Given the description of an element on the screen output the (x, y) to click on. 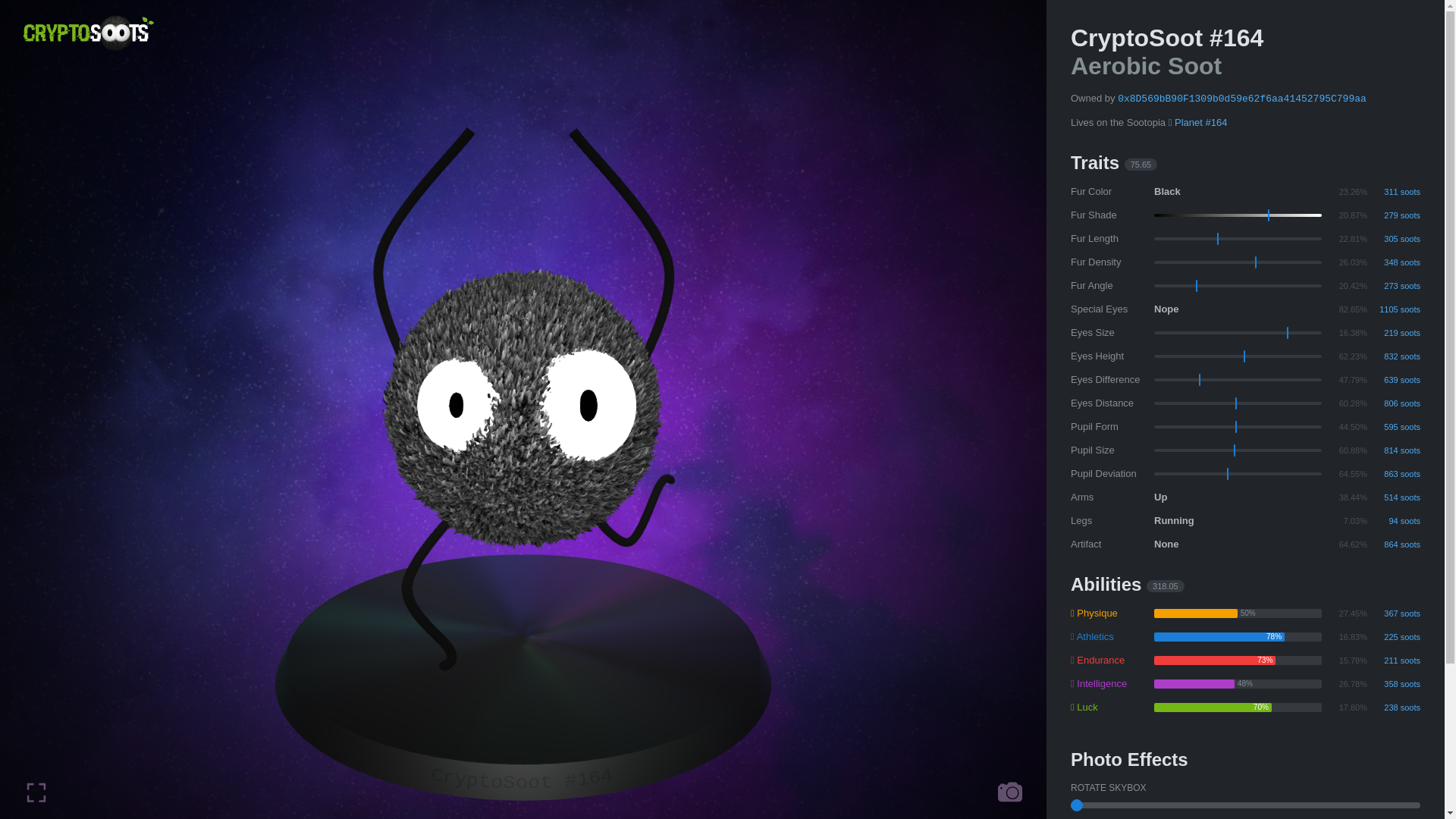
0x8D569bB90F1309b0d59e62f6aa41452795C799aa Element type: text (1241, 97)
595 soots Element type: text (1393, 425)
238 soots Element type: text (1393, 706)
305 soots Element type: text (1393, 237)
367 soots Element type: text (1393, 612)
348 soots Element type: text (1393, 261)
225 soots Element type: text (1393, 636)
311 soots Element type: text (1393, 191)
273 soots Element type: text (1393, 284)
864 soots Element type: text (1393, 544)
806 soots Element type: text (1393, 402)
219 soots Element type: text (1393, 331)
279 soots Element type: text (1393, 214)
832 soots Element type: text (1393, 355)
211 soots Element type: text (1393, 659)
639 soots Element type: text (1393, 378)
514 soots Element type: text (1393, 497)
94 soots Element type: text (1393, 520)
814 soots Element type: text (1393, 450)
1105 soots Element type: text (1393, 308)
358 soots Element type: text (1393, 683)
863 soots Element type: text (1393, 472)
